Given the description of an element on the screen output the (x, y) to click on. 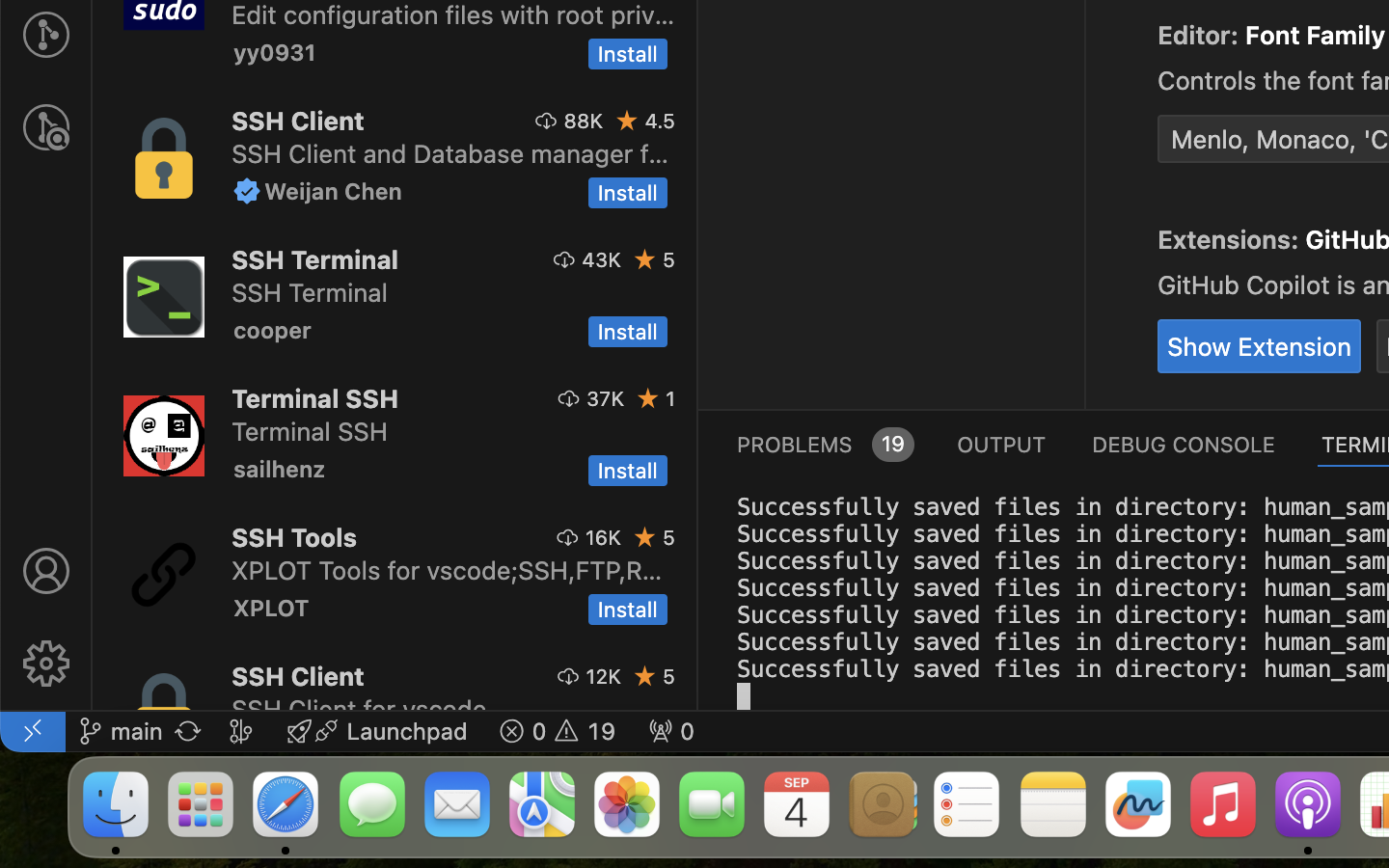
88K Element type: AXStaticText (583, 120)
 Element type: AXStaticText (46, 663)
0 OUTPUT Element type: AXRadioButton (1001, 443)
XPLOT Element type: AXStaticText (271, 607)
Font Family Element type: AXStaticText (1315, 35)
